Given the description of an element on the screen output the (x, y) to click on. 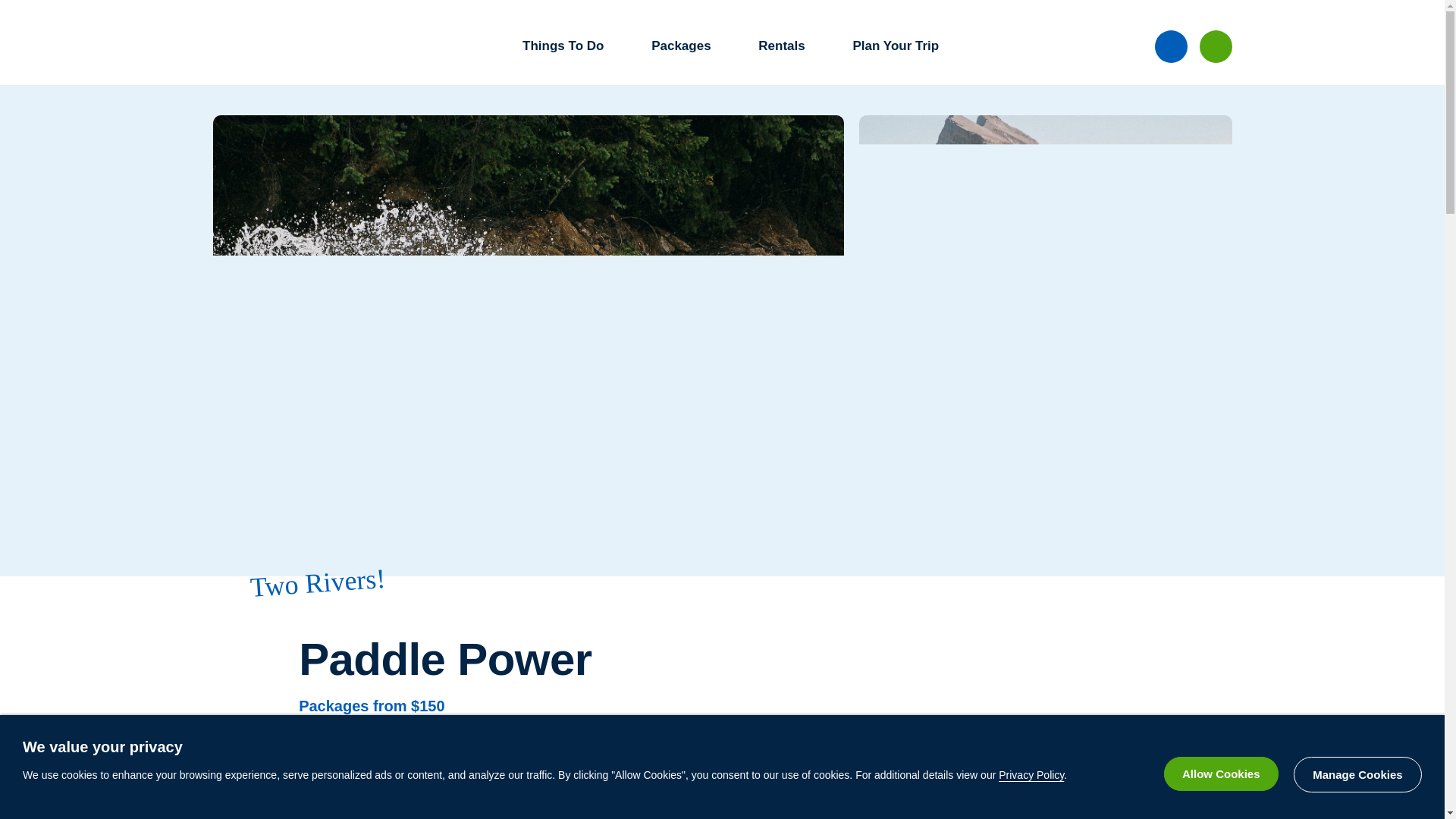
Things To Do (568, 45)
Packages (687, 45)
Rentals (787, 45)
